Given the description of an element on the screen output the (x, y) to click on. 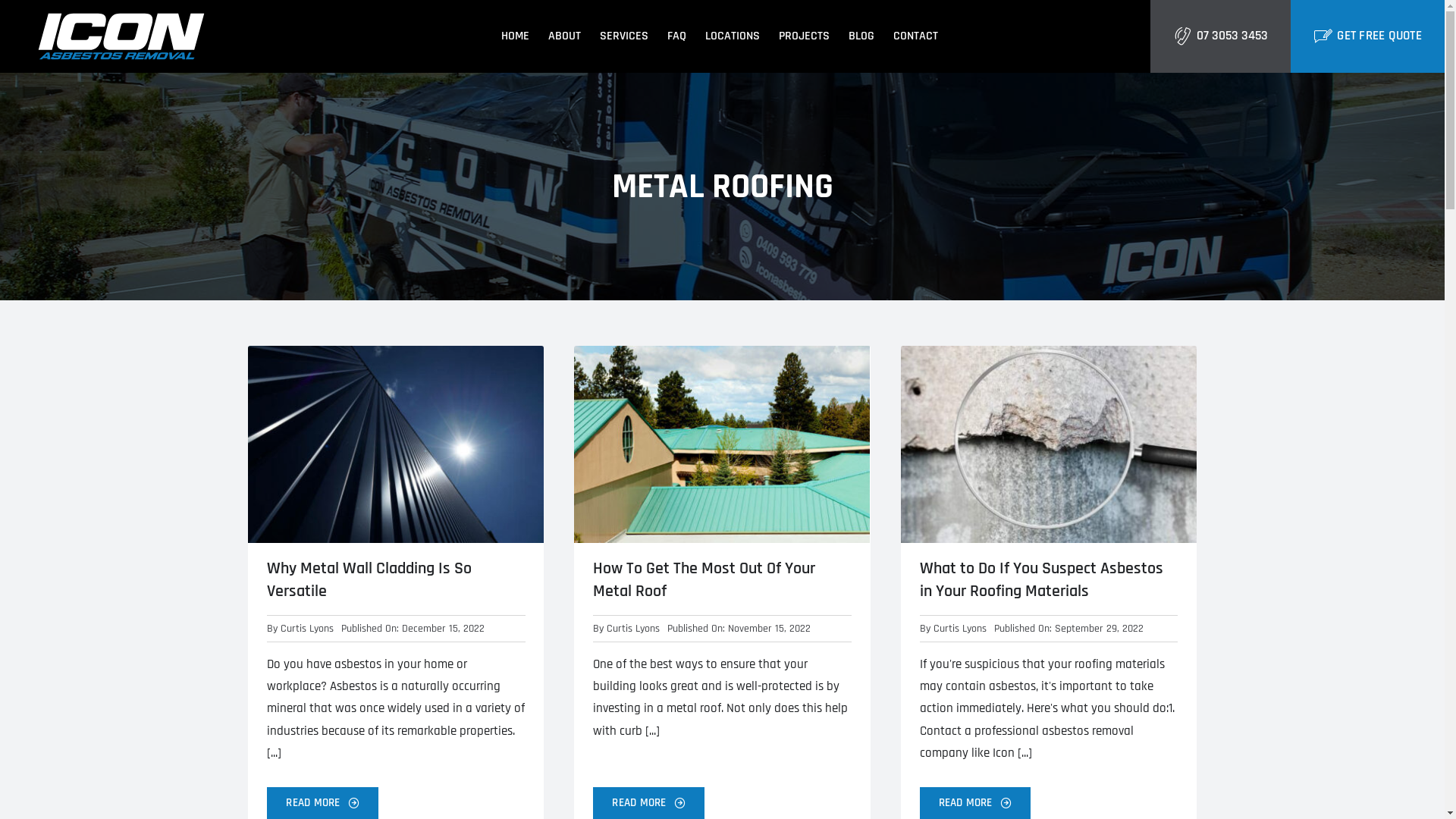
Why Metal Wall Cladding Is So Versatile 2 Element type: hover (395, 443)
Curtis Lyons Element type: text (958, 628)
How To Get The Most Out Of Your Metal Roof 3 Element type: hover (721, 443)
Why Metal Wall Cladding Is So Versatile Element type: text (368, 580)
07 3053 3453 Element type: text (1220, 36)
PROJECTS Element type: text (803, 36)
CONTACT Element type: text (915, 36)
FAQ Element type: text (676, 36)
Curtis Lyons Element type: text (306, 628)
LOCATIONS Element type: text (732, 36)
What to Do If You Suspect Asbestos in Your Roofing Materials Element type: text (1040, 580)
BLOG Element type: text (861, 36)
HOME Element type: text (515, 36)
ABOUT Element type: text (564, 36)
Curtis Lyons Element type: text (632, 628)
How To Get The Most Out Of Your Metal Roof Element type: text (704, 580)
Why Metal Wall Cladding Is So Versatile 1 Element type: hover (120, 35)
GET FREE QUOTE Element type: text (1367, 36)
SERVICES Element type: text (623, 36)
